Given the description of an element on the screen output the (x, y) to click on. 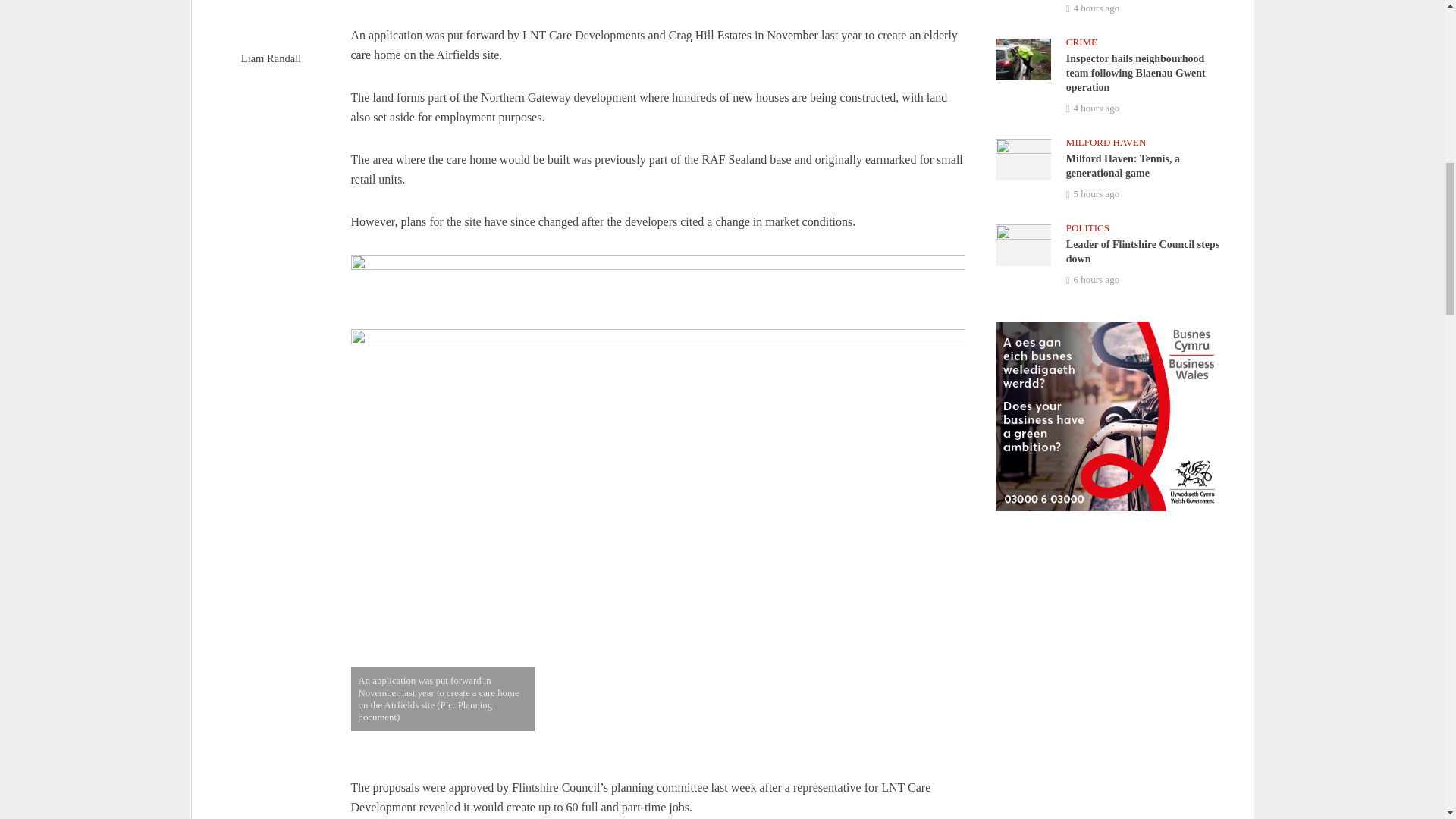
Milford Haven: Tennis, a generational game (1021, 158)
Leader of Flintshire Council steps down (1021, 244)
